Given the description of an element on the screen output the (x, y) to click on. 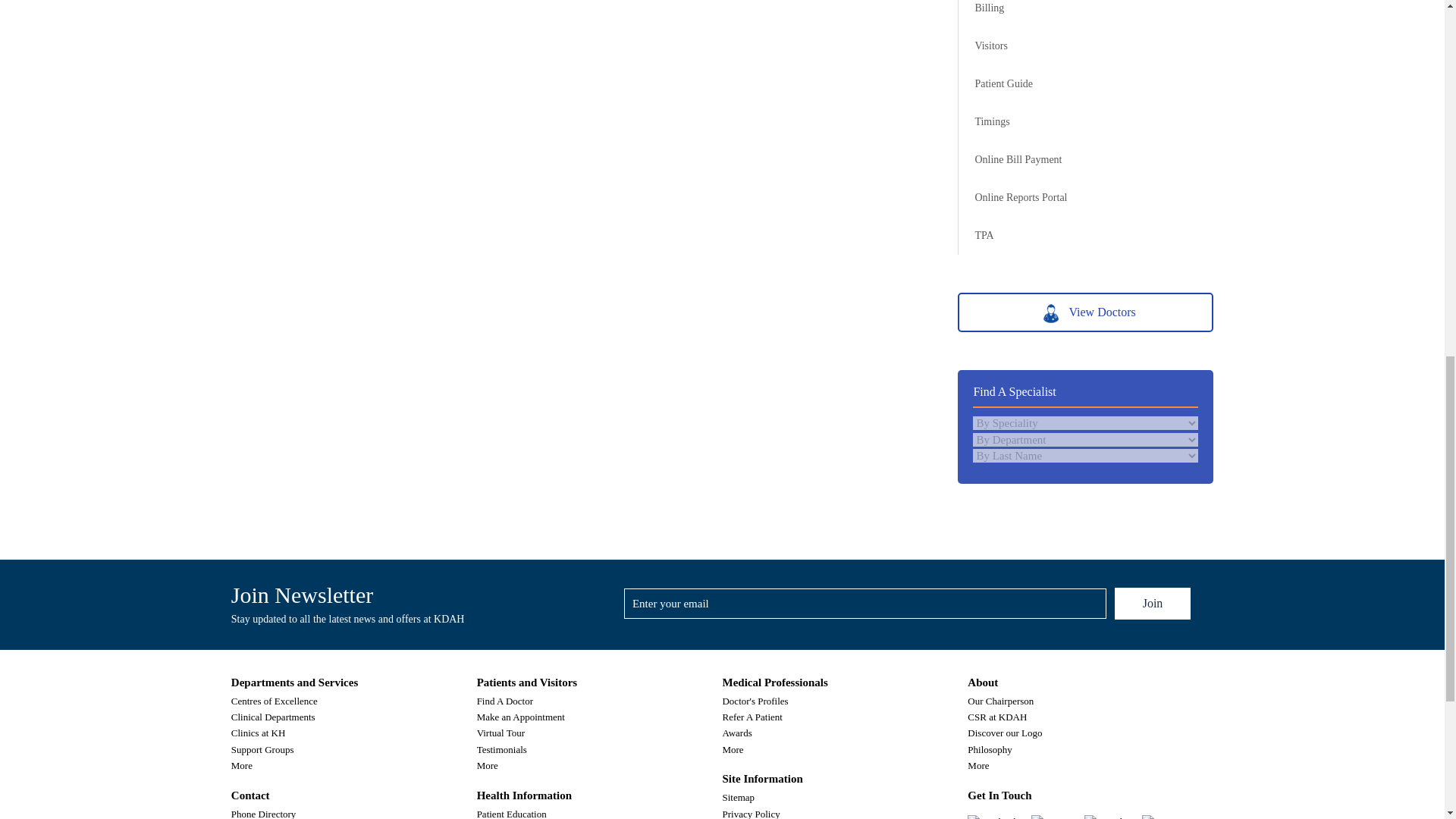
Join (1153, 603)
